Given the description of an element on the screen output the (x, y) to click on. 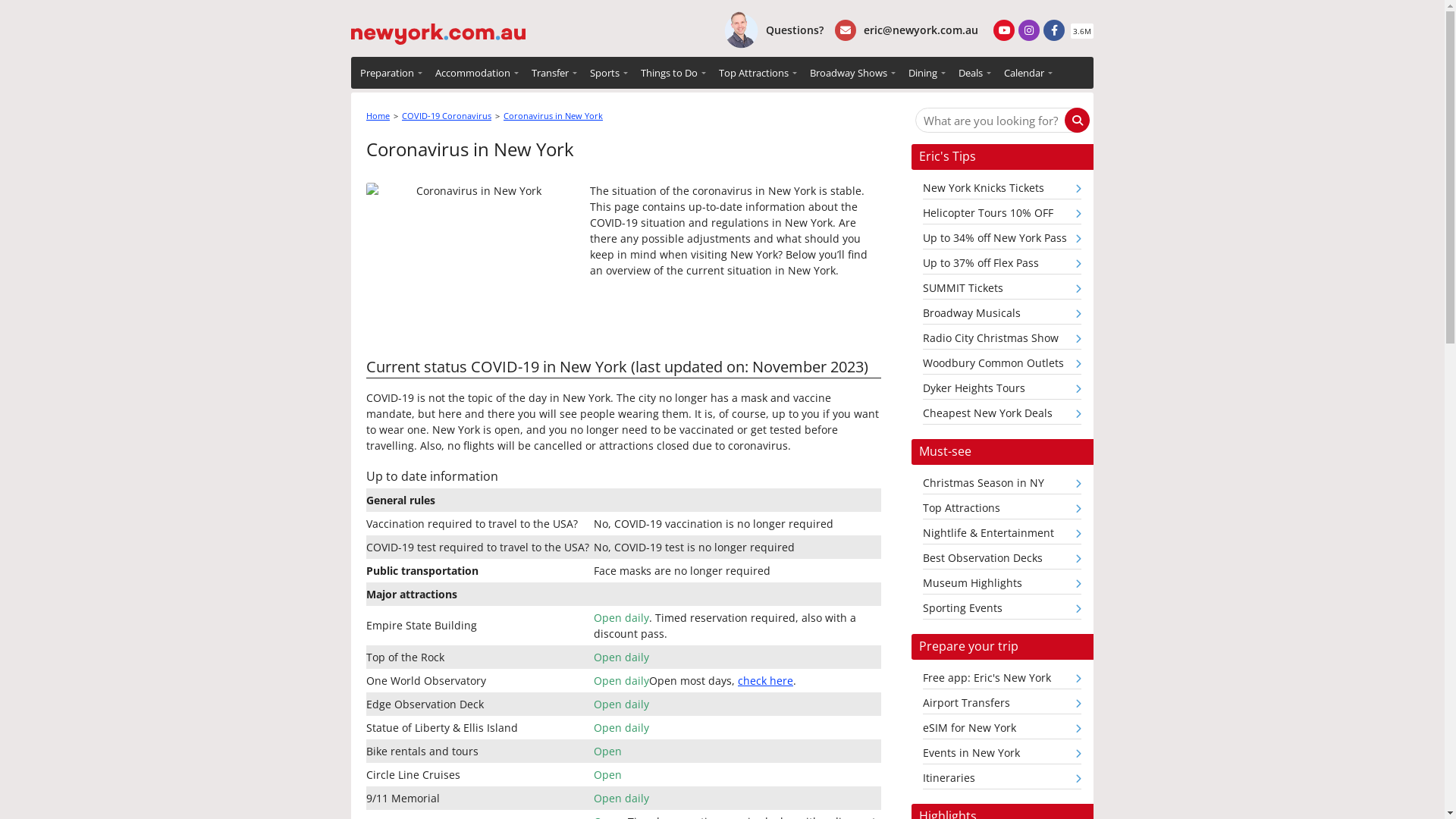
NewYork.com.au Element type: hover (438, 26)
Itineraries Element type: text (1001, 779)
SUMMIT Tickets Element type: text (1001, 289)
New York - Instagram Element type: text (1028, 29)
Coronavirus in New York Element type: text (552, 115)
Museum Highlights Element type: text (1001, 584)
Dyker Heights Tours Element type: text (1001, 389)
Radio City Christmas Show Element type: text (1001, 339)
Free app: Eric's New York Element type: text (1001, 679)
New York - YouTube Element type: text (1003, 29)
New York Knicks Tickets Element type: text (1001, 189)
Christmas Season in NY Element type: text (1001, 484)
check here Element type: text (765, 680)
Search Element type: text (1076, 119)
eric@newyork.com.au Element type: text (906, 29)
Events in New York Element type: text (1001, 754)
New York - Facebook Element type: text (1053, 29)
Home Element type: text (377, 115)
Top Attractions Element type: text (1001, 509)
Woodbury Common Outlets Element type: text (1001, 364)
Airport Transfers Element type: text (1001, 704)
Up to 34% off New York Pass Element type: text (1001, 239)
Sporting Events Element type: text (1001, 609)
Cheapest New York Deals Element type: text (1001, 414)
eSIM for New York Element type: text (1001, 729)
Best Observation Decks Element type: text (1001, 559)
Up to 37% off Flex Pass Element type: text (1001, 264)
COVID-19 Coronavirus Element type: text (446, 115)
Helicopter Tours 10% OFF Element type: text (1001, 214)
Broadway Musicals Element type: text (1001, 314)
Nightlife & Entertainment Element type: text (1001, 534)
